Given the description of an element on the screen output the (x, y) to click on. 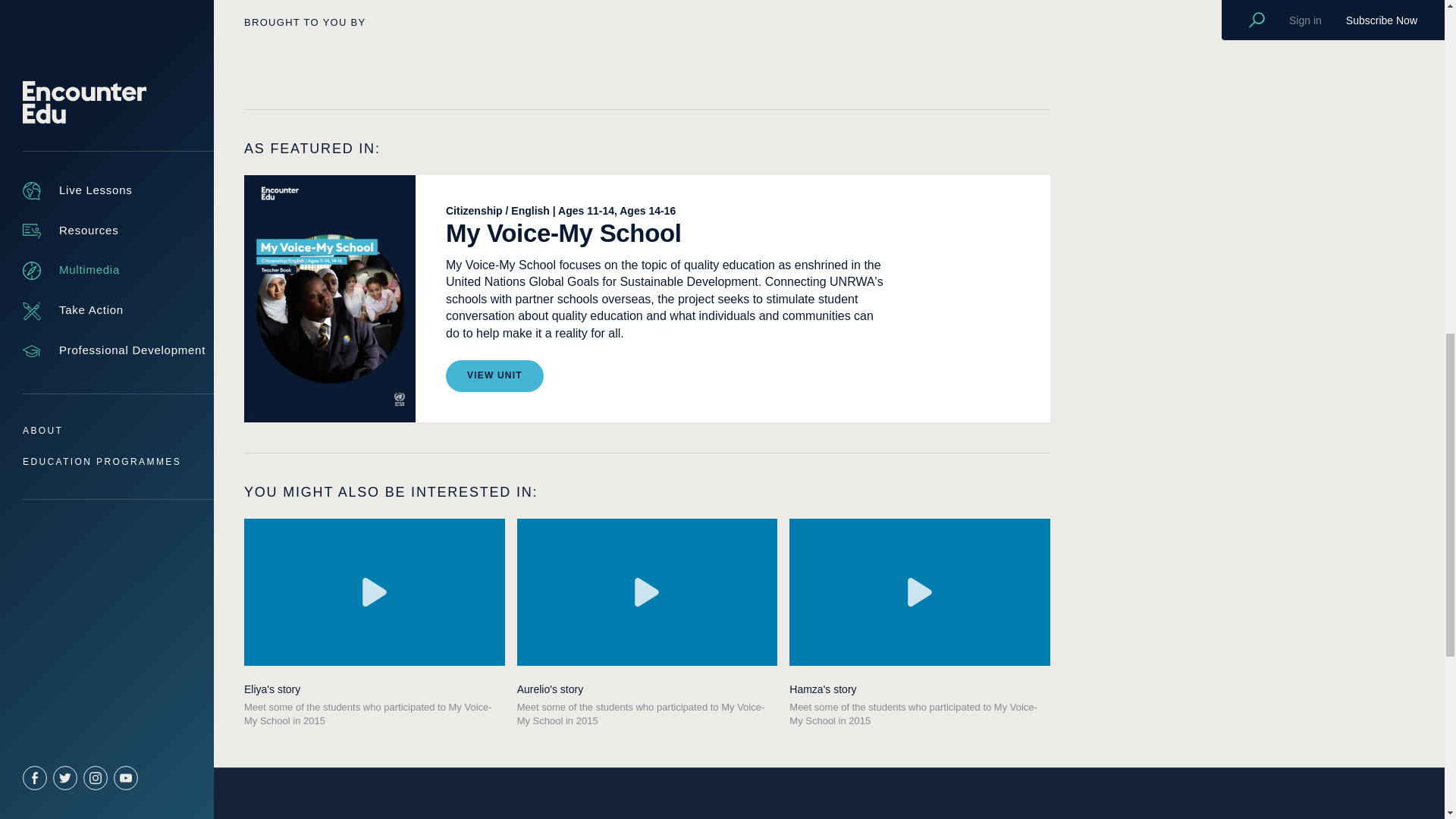
VIEW UNIT (494, 376)
